Given the description of an element on the screen output the (x, y) to click on. 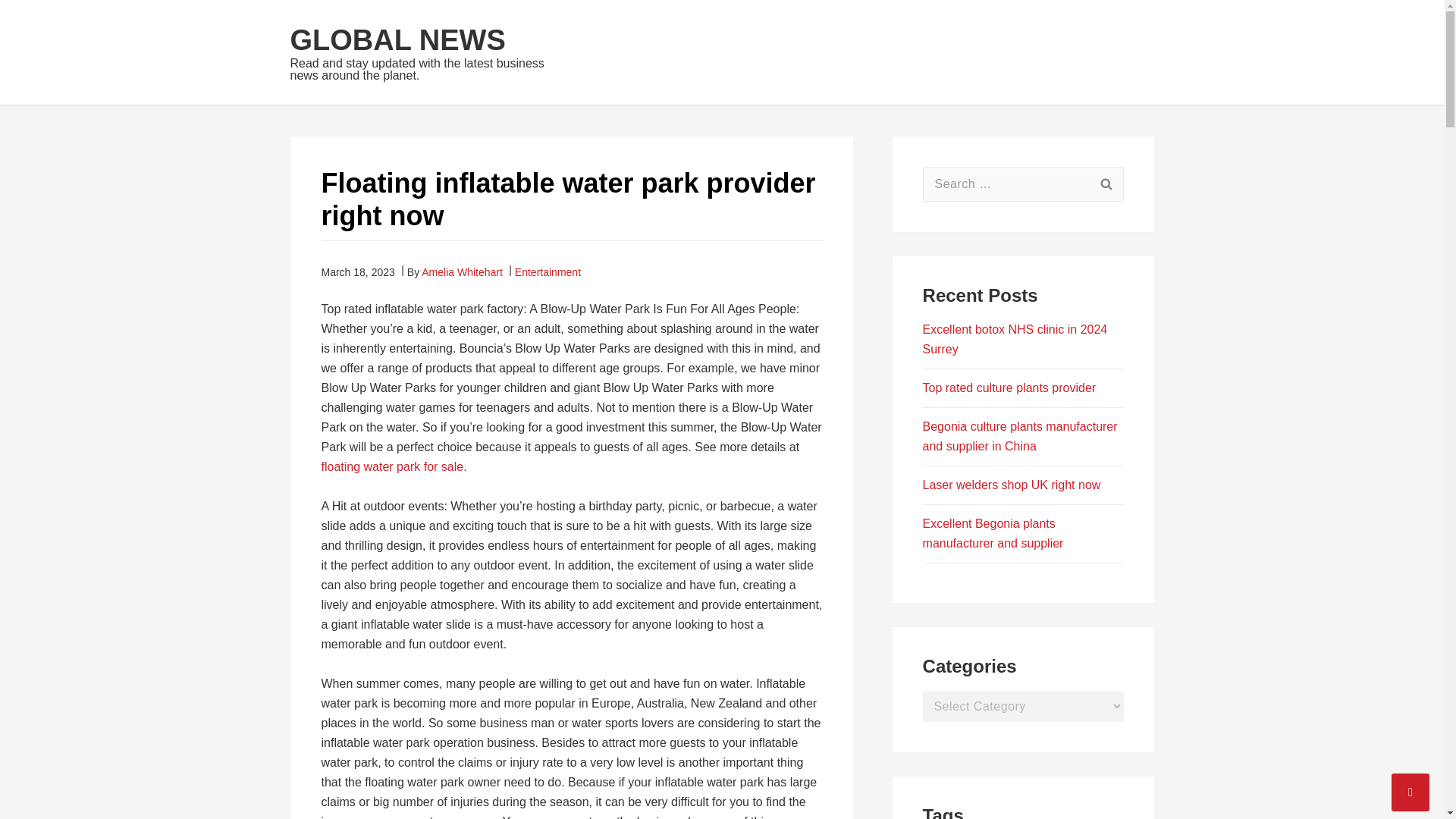
Top rated culture plants provider (1009, 328)
Search (1106, 184)
Search (1106, 184)
Laser welders shop UK right now (1011, 426)
Begonia culture plants manufacturer and supplier in China (1020, 377)
Amelia Whitehart (462, 271)
Best welding supplies online shop UK (1014, 532)
View all posts by Amelia Whitehart (462, 271)
Search (1106, 184)
